Given the description of an element on the screen output the (x, y) to click on. 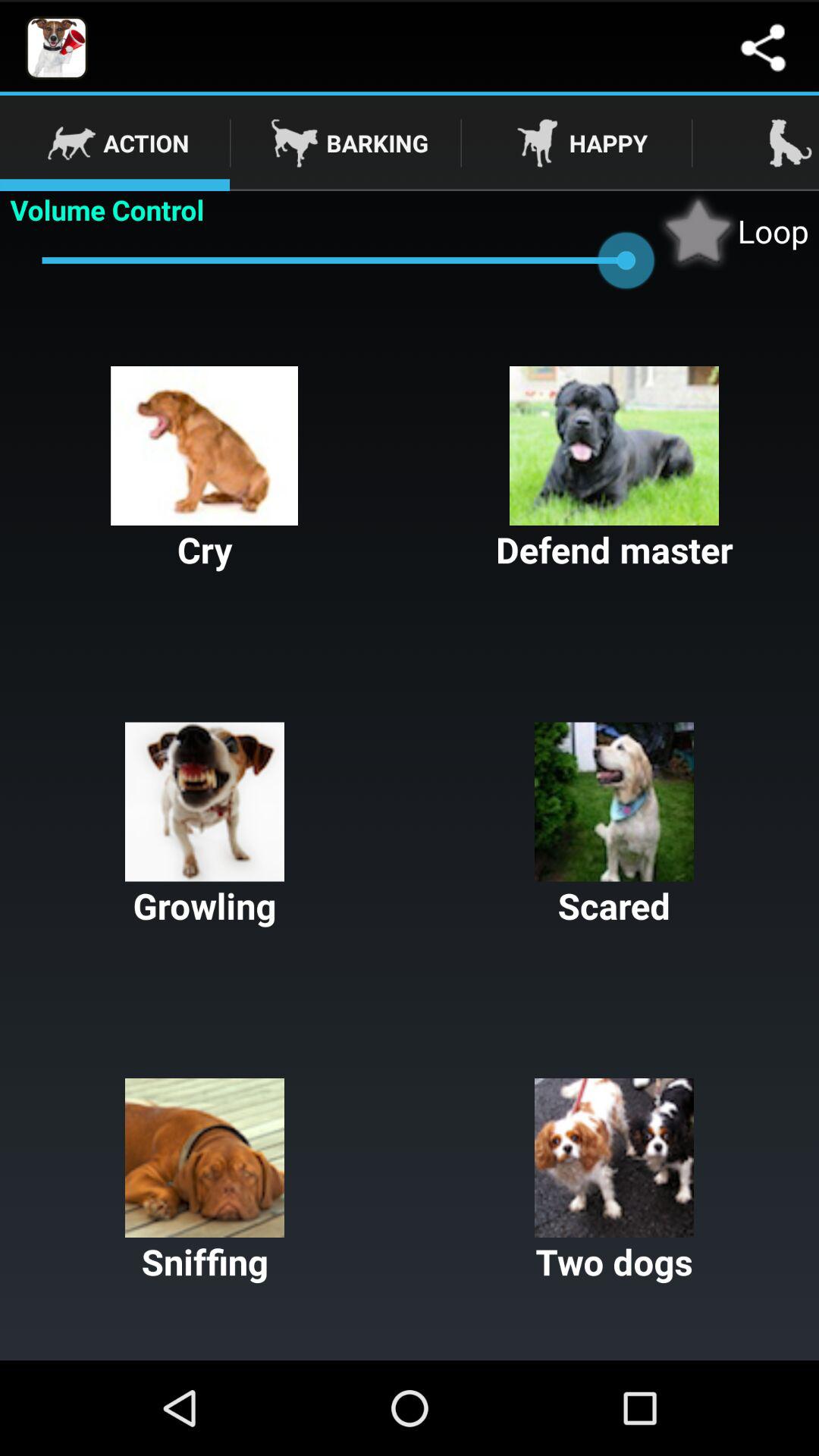
swipe until the sniffing (204, 1181)
